Given the description of an element on the screen output the (x, y) to click on. 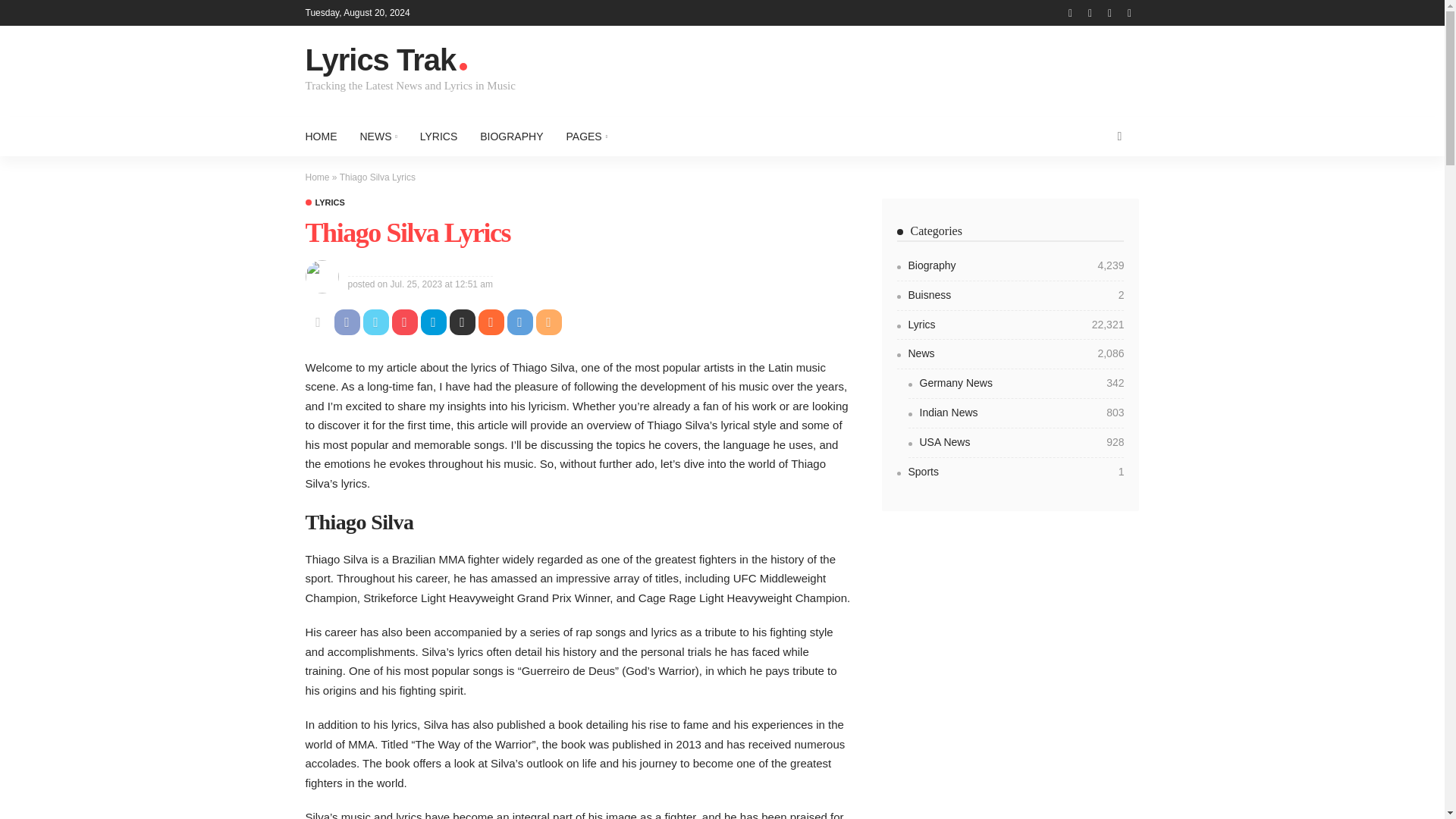
LYRICS (323, 203)
LYRICS (438, 136)
Home (316, 176)
search (1118, 136)
Lyrics Trak (418, 60)
BIOGRAPHY (511, 136)
Lyrics (323, 203)
NEWS (379, 136)
HOME (325, 136)
PAGES (586, 136)
